Given the description of an element on the screen output the (x, y) to click on. 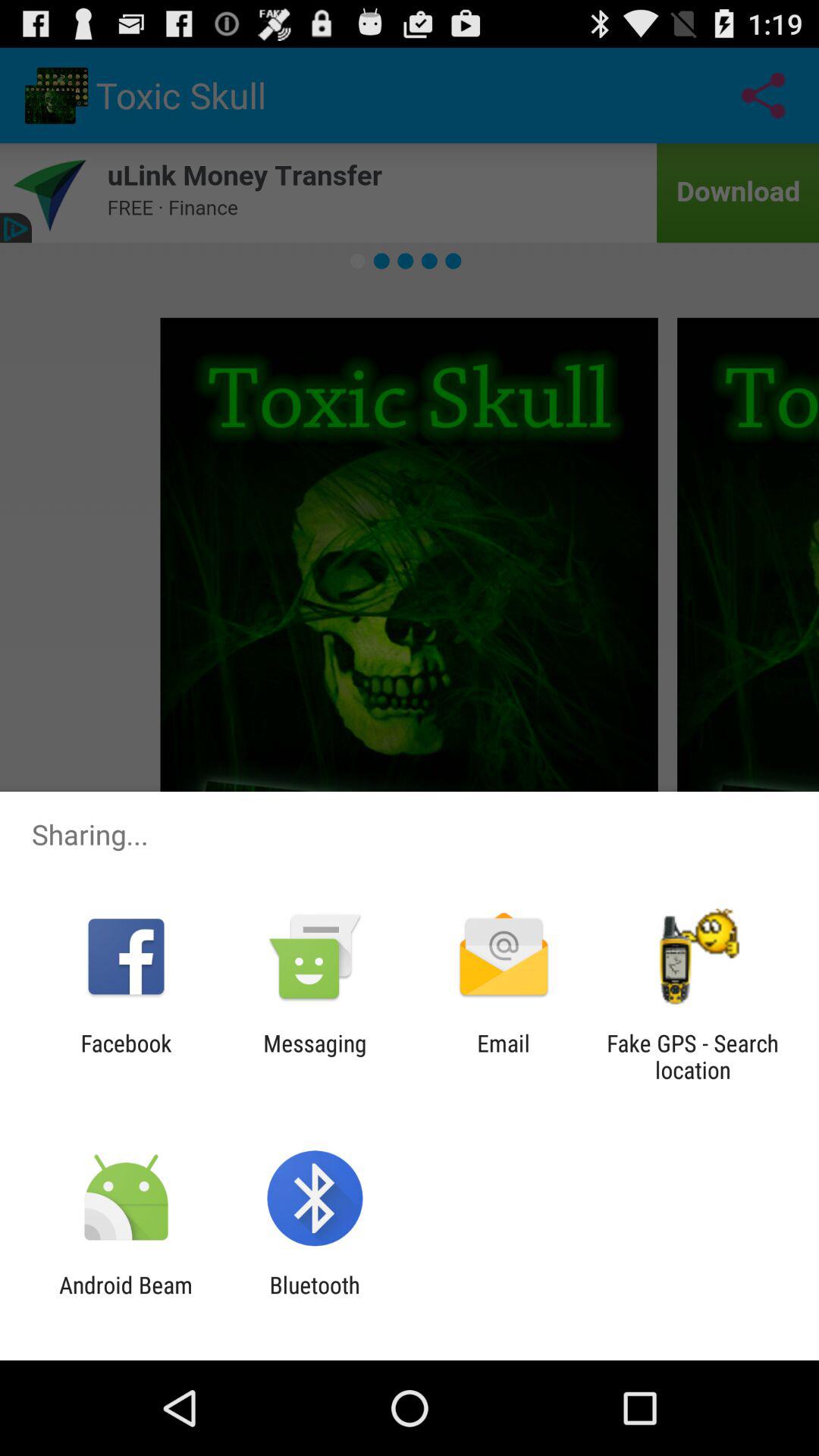
tap the fake gps search item (692, 1056)
